Given the description of an element on the screen output the (x, y) to click on. 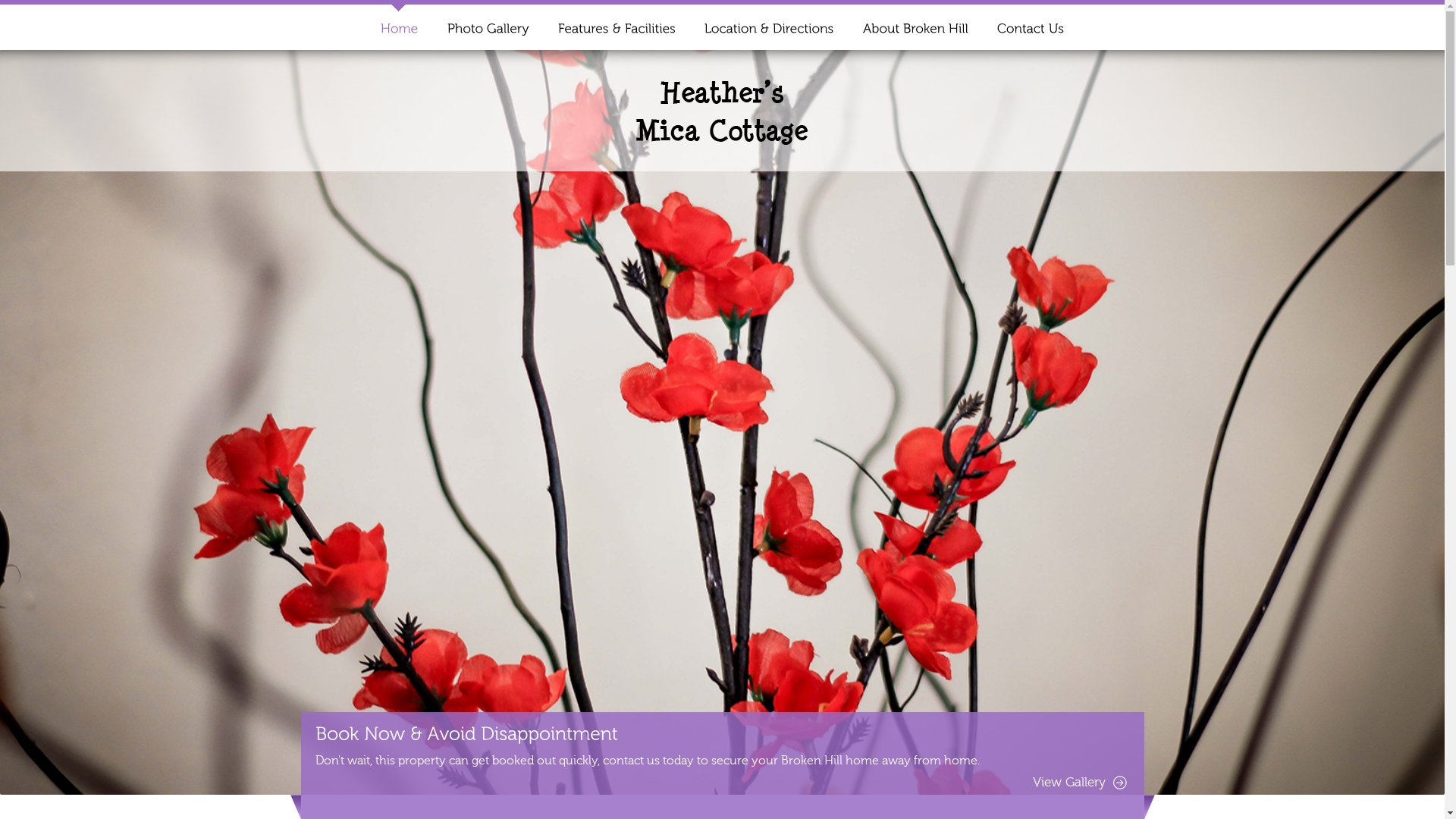
View Gallery Element type: text (1079, 782)
